Given the description of an element on the screen output the (x, y) to click on. 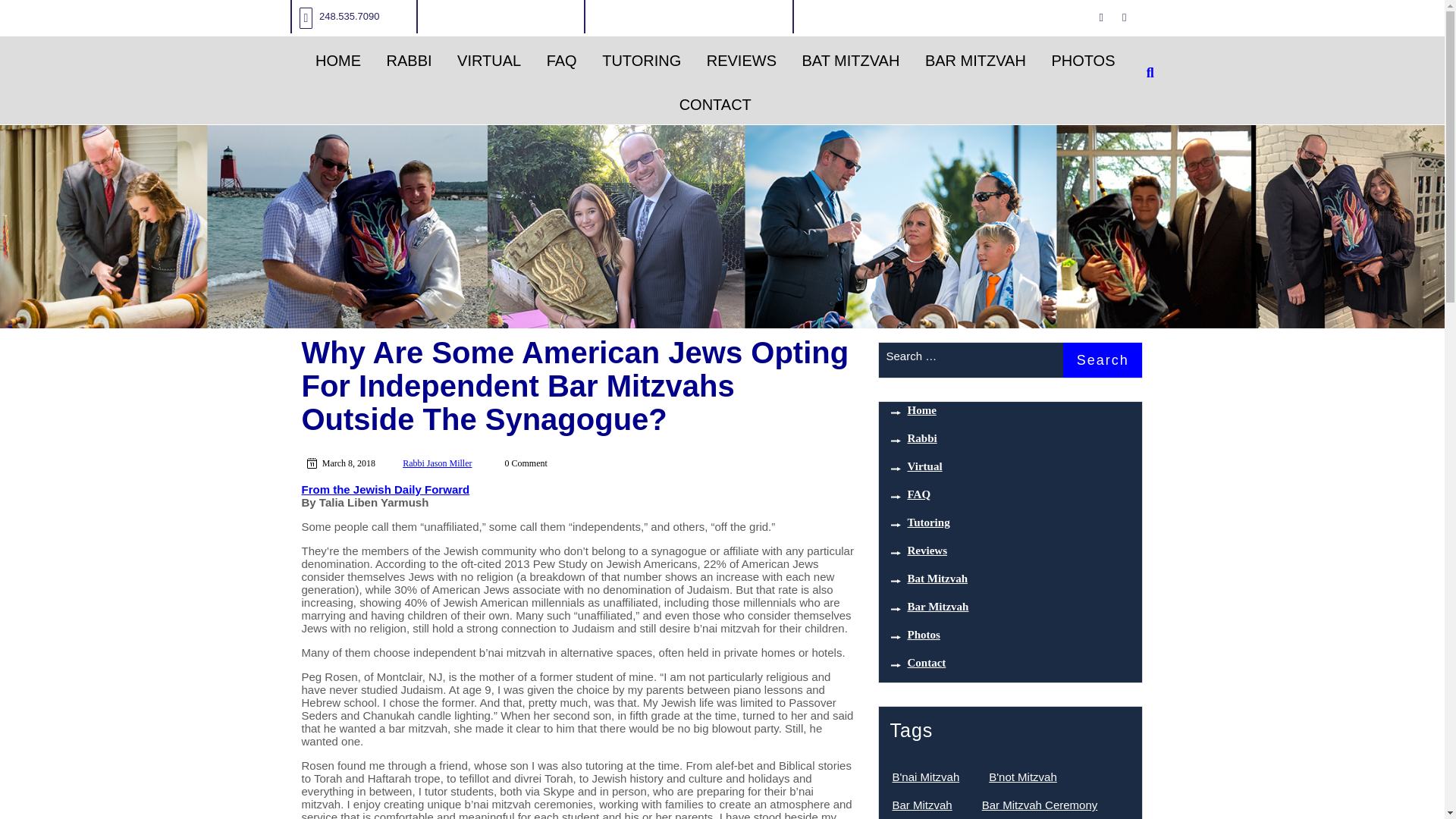
REVIEWS (741, 60)
RABBI (409, 60)
TUTORING (642, 60)
HOME (338, 60)
BAR MITZVAH (975, 60)
From the Jewish Daily Forward (385, 489)
Rabbi Jason Miller (437, 462)
FAQ (561, 60)
BAT MITZVAH (850, 60)
CONTACT (715, 104)
VIRTUAL (488, 60)
PHOTOS (1082, 60)
Search (1101, 360)
Search (1101, 360)
